Given the description of an element on the screen output the (x, y) to click on. 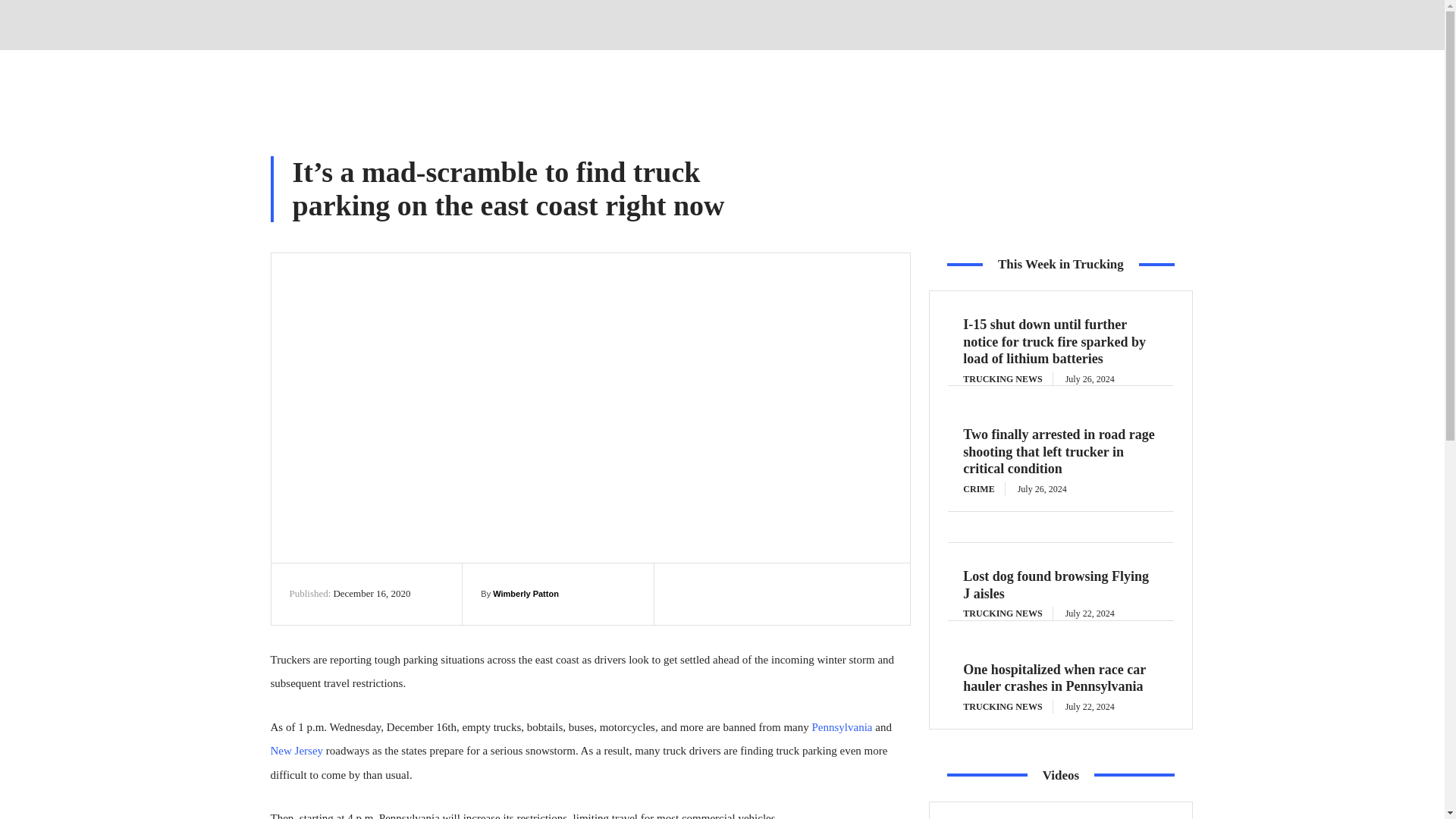
Pennsylvania (842, 727)
TRUCKING NEWS (1007, 612)
Wimberly Patton (526, 593)
Lost dog found browsing Flying J aisles (1055, 584)
CRIME (983, 489)
Lost dog found browsing Flying J aisles (1055, 584)
TRUCKING NEWS (1007, 706)
TRUCKING NEWS (1007, 378)
New Jersey (296, 750)
